Given the description of an element on the screen output the (x, y) to click on. 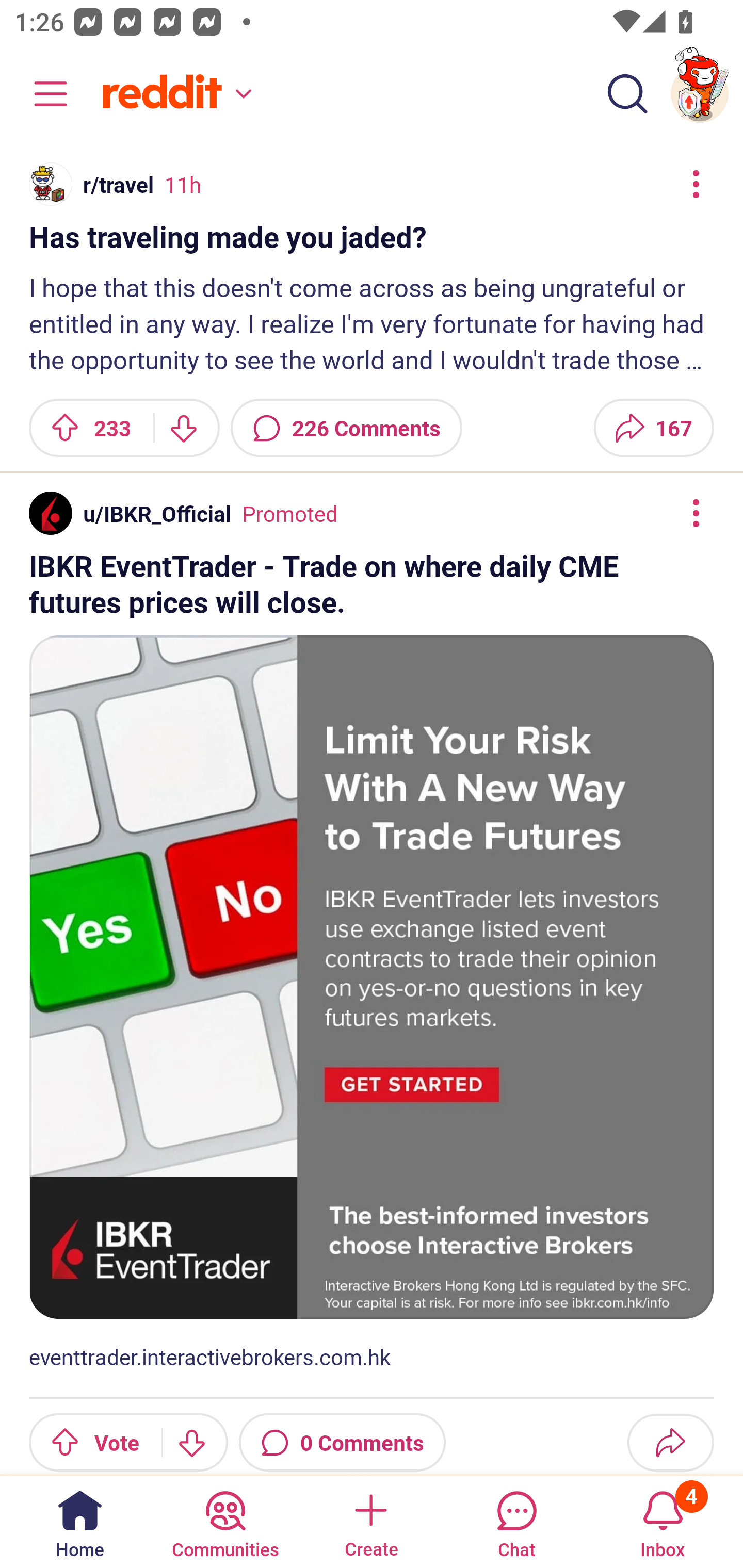
Search (626, 93)
TestAppium002 account (699, 93)
Community menu (41, 94)
Home feed (173, 94)
Home (80, 1520)
Communities (225, 1520)
Create a post Create (370, 1520)
Chat (516, 1520)
Inbox, has 4 notifications 4 Inbox (662, 1520)
